Given the description of an element on the screen output the (x, y) to click on. 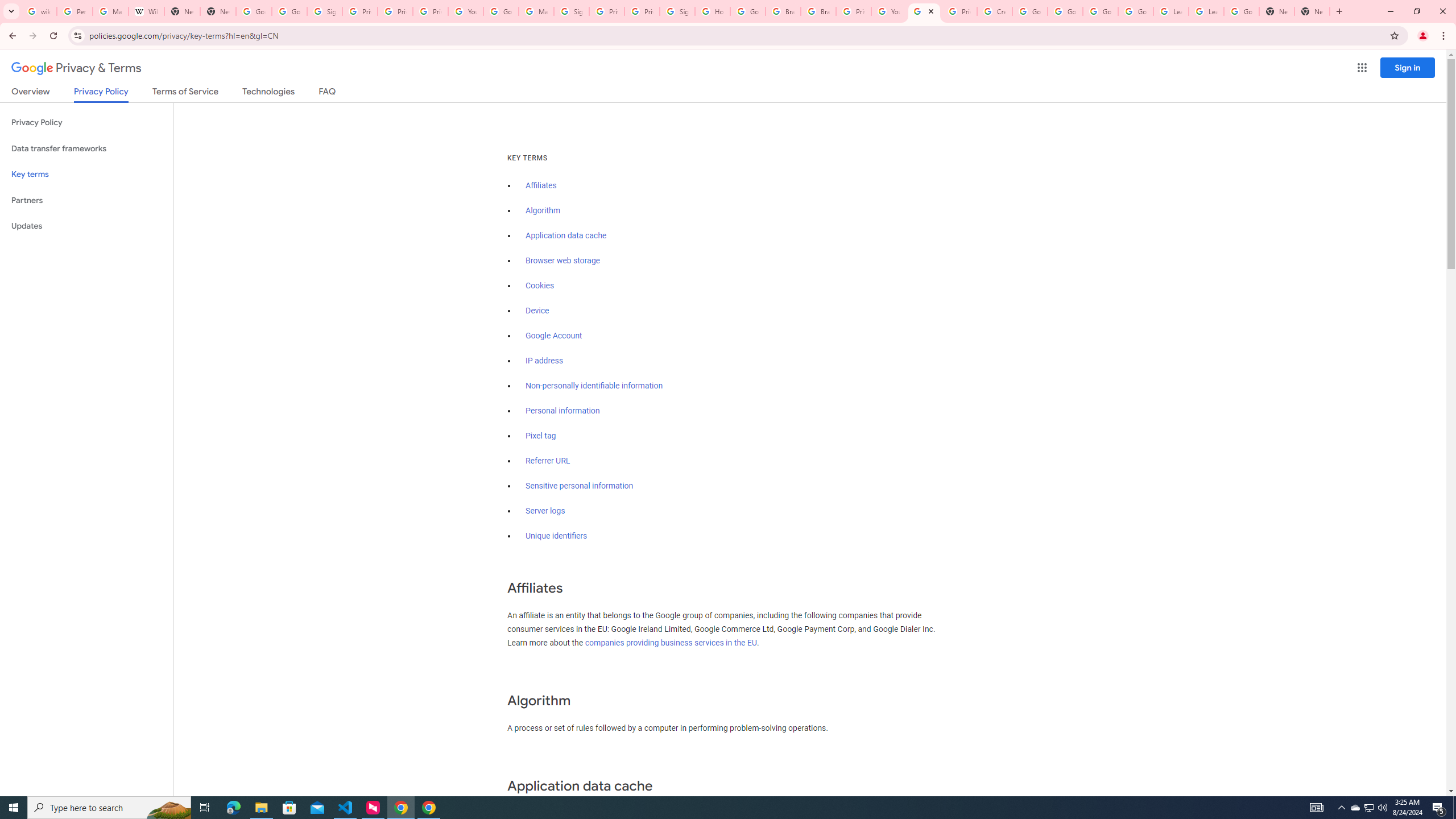
Sign in - Google Accounts (324, 11)
Pixel tag (540, 435)
Application data cache (566, 235)
Cookies (539, 285)
Partners (86, 199)
Browser web storage (562, 260)
Device (536, 311)
Personalization & Google Search results - Google Search Help (74, 11)
Personal information (562, 411)
